Given the description of an element on the screen output the (x, y) to click on. 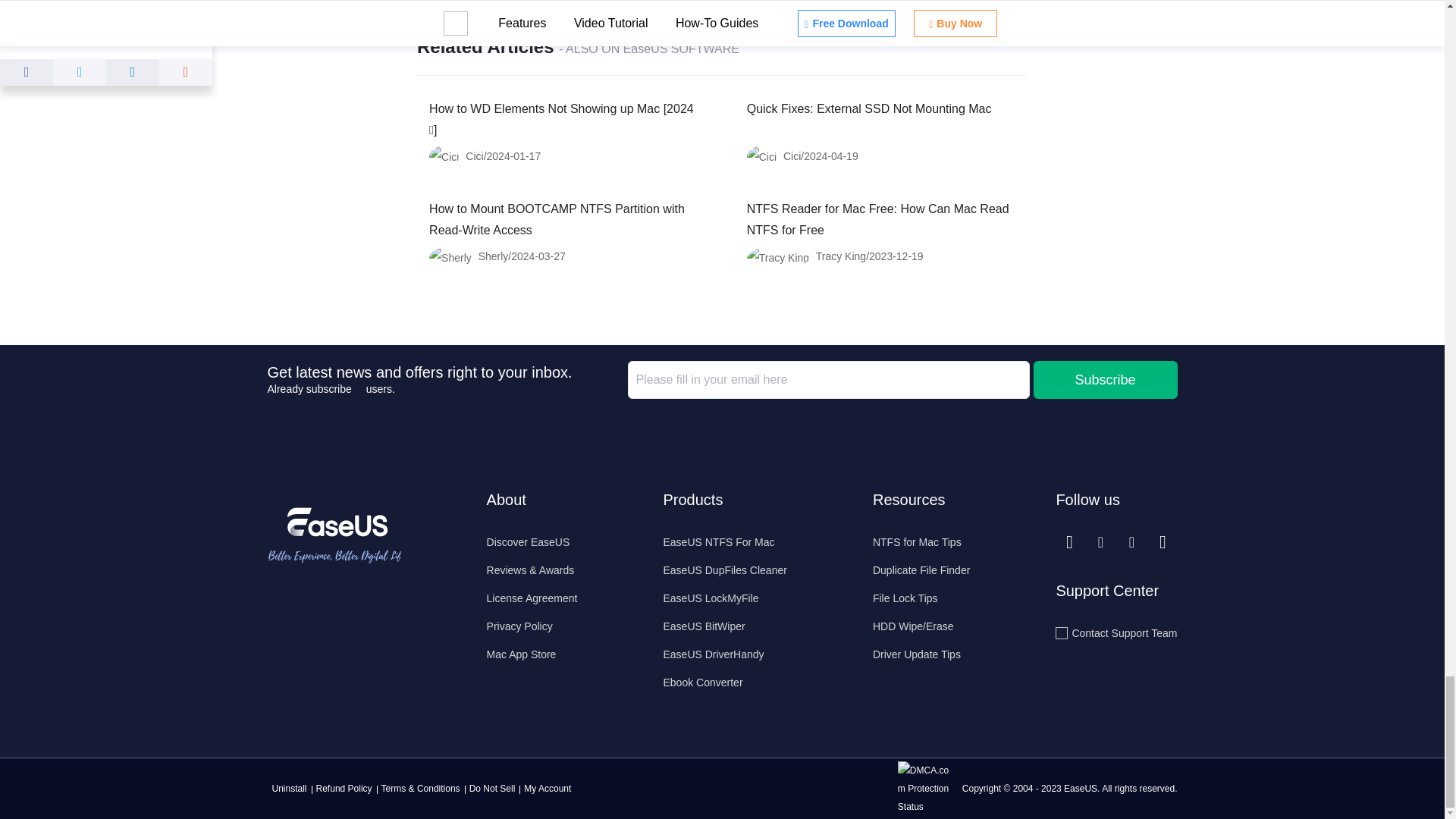
How to Mount BOOTCAMP NTFS Partition with Read-Write Access (556, 219)
DMCA.com Protection Status (928, 787)
Quick Fixes: External SSD Not Mounting Mac (868, 108)
NTFS Reader for Mac Free: How Can Mac Read NTFS for Free (877, 219)
